Given the description of an element on the screen output the (x, y) to click on. 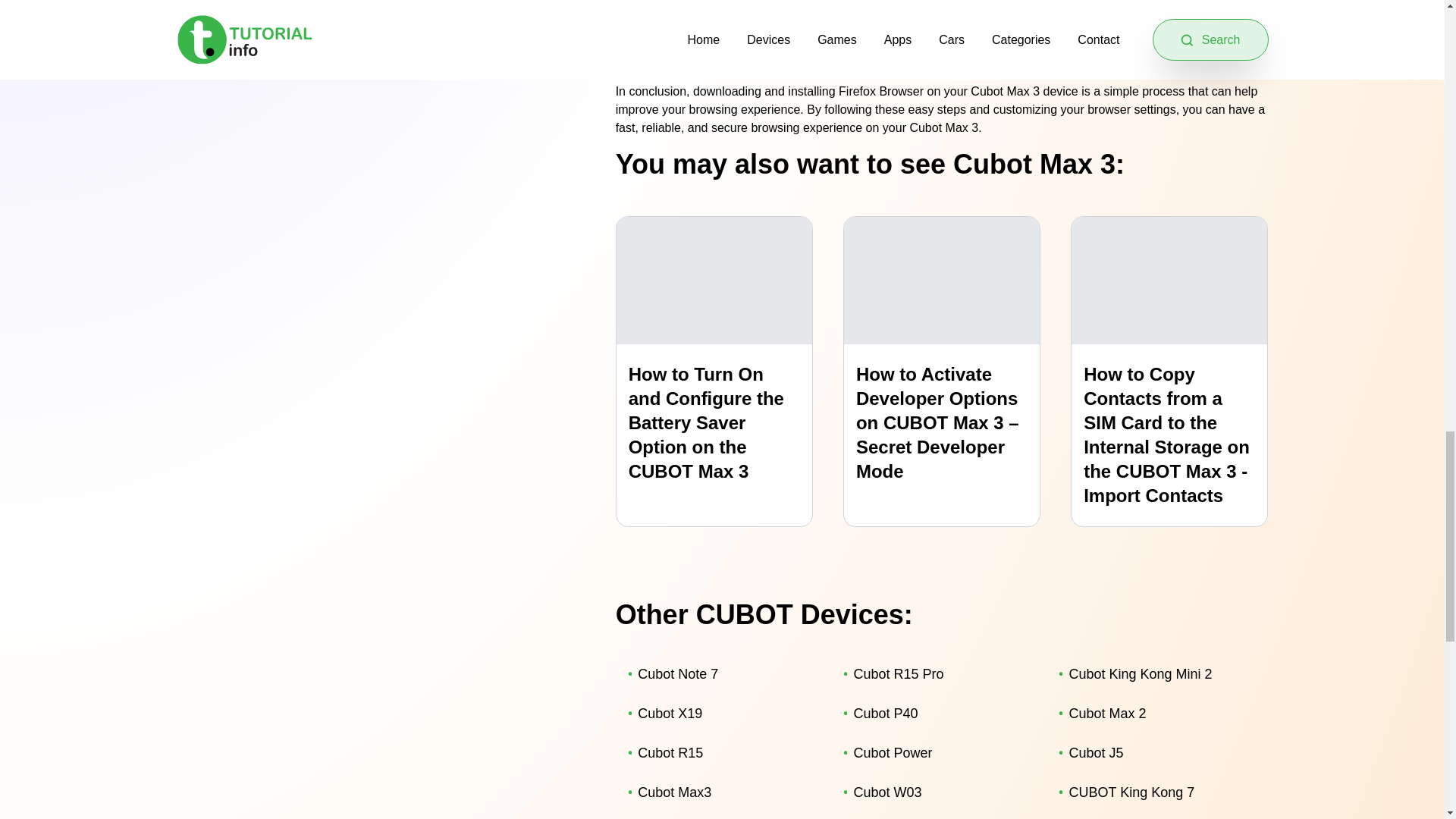
Cubot Tab 10 (1154, 815)
Cubot J5 (1154, 753)
Cubot Note 7 (723, 673)
Cubot King Kong Mini 2 (1154, 673)
Cubot Power (938, 753)
Cubot X19 (723, 713)
Cubot R15 (723, 753)
Cubot Max 2 (1154, 713)
Cubot R15 Pro (938, 673)
Cubot W03 (938, 792)
CUBOT Kingkong 7 (723, 815)
Cubot P40 (938, 713)
Cubot Max3 (723, 792)
CUBOT Quest (938, 815)
